Given the description of an element on the screen output the (x, y) to click on. 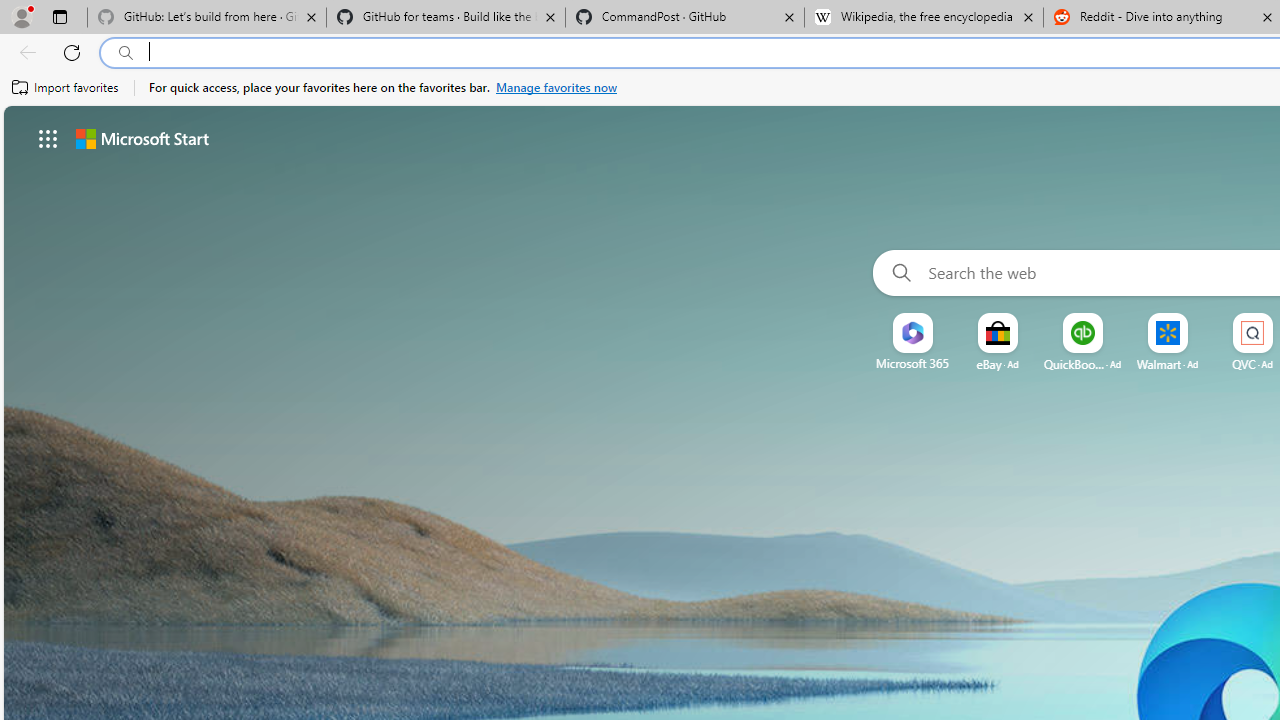
Import favorites (65, 88)
Manage favorites now (556, 88)
Search icon (125, 53)
